Given the description of an element on the screen output the (x, y) to click on. 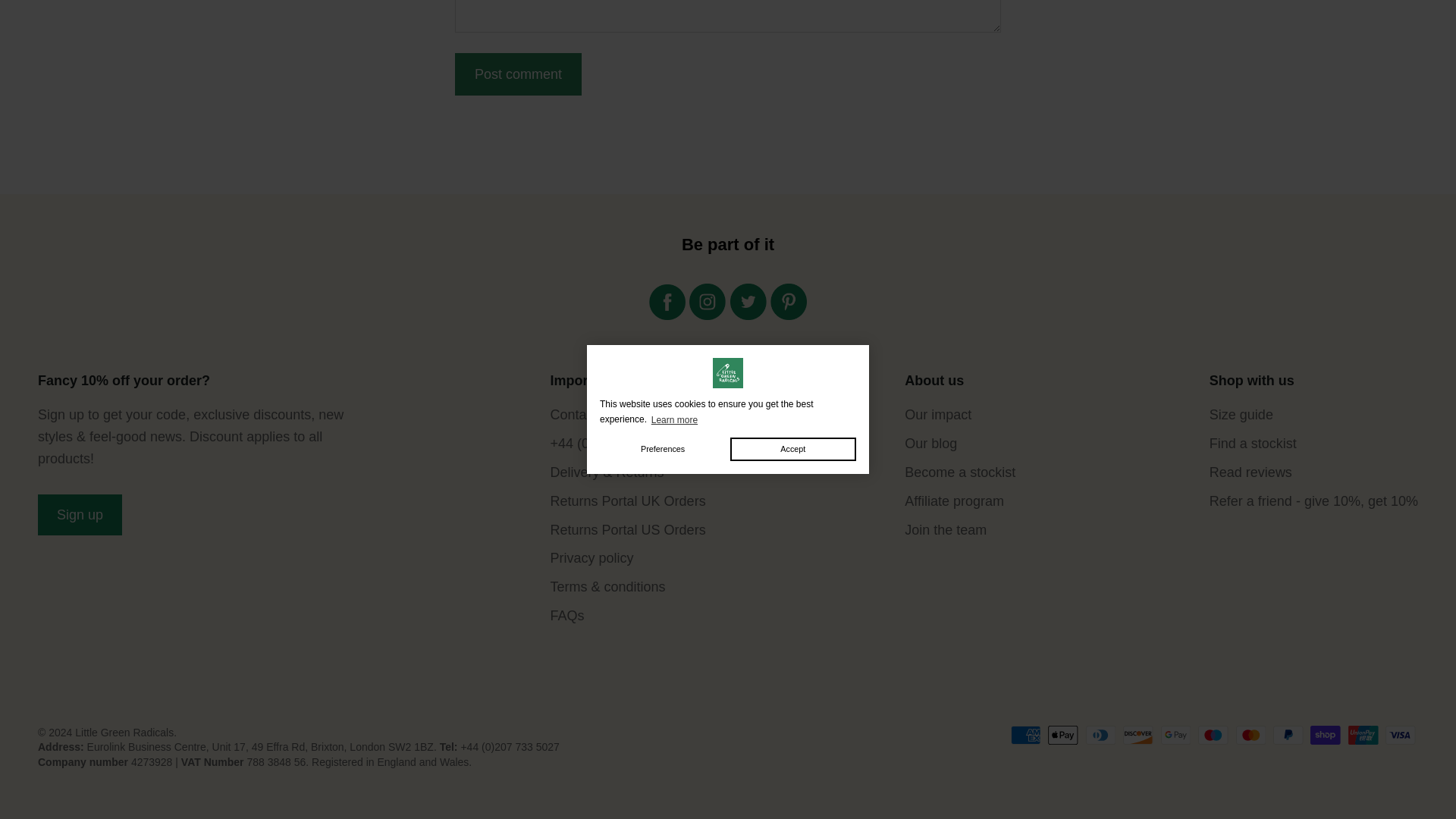
Maestro (1213, 734)
PayPal (1287, 734)
American Express (1025, 734)
Mastercard (1251, 734)
Shop Pay (1325, 734)
Apple Pay (1062, 734)
Discover (1137, 734)
Diners Club (1100, 734)
Union Pay (1363, 734)
Google Pay (1175, 734)
